Given the description of an element on the screen output the (x, y) to click on. 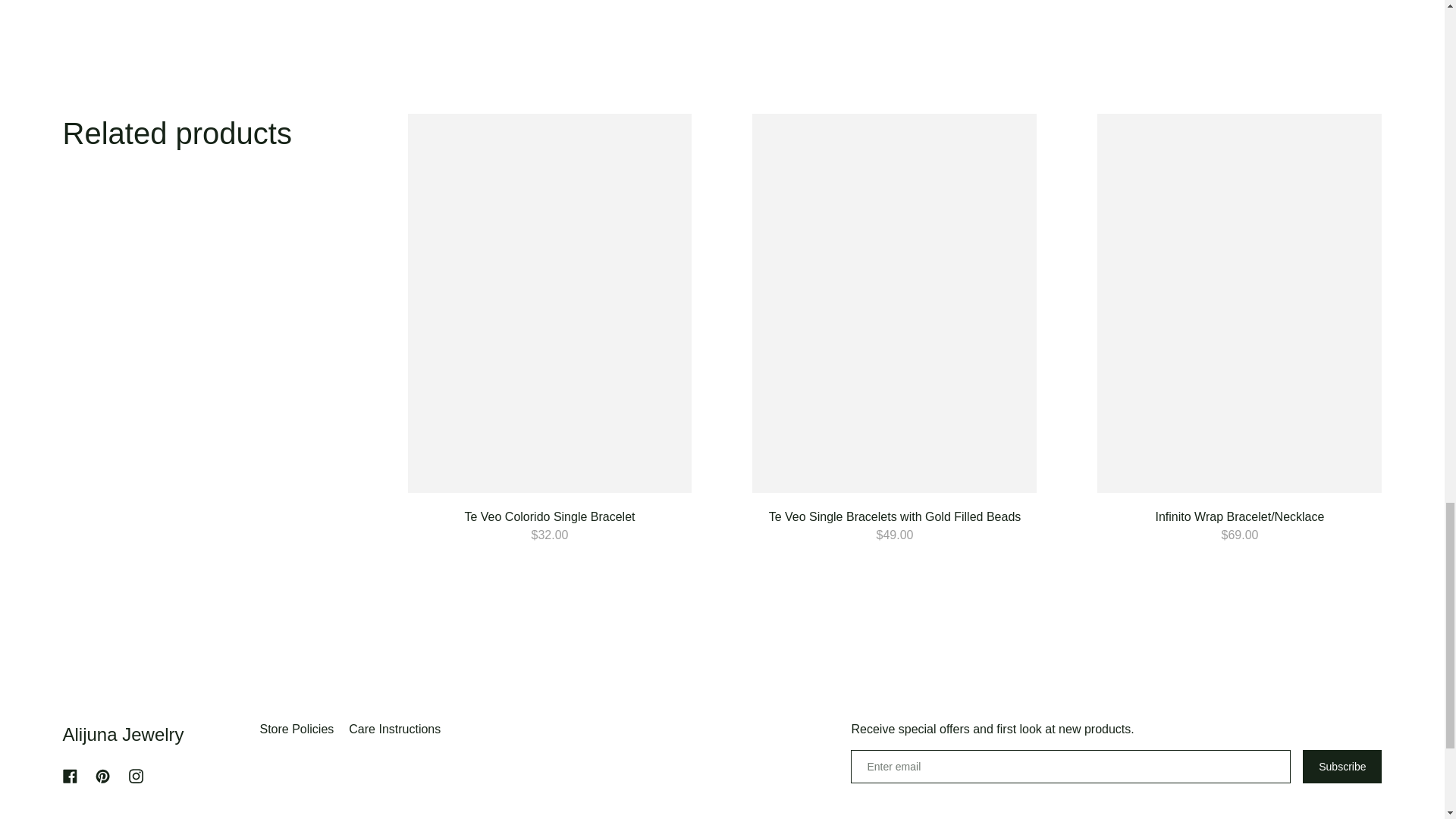
Alijuna Jewelry on Instagram (135, 775)
Alijuna Jewelry on Pinterest (102, 775)
Alijuna Jewelry on Facebook (69, 775)
